Given the description of an element on the screen output the (x, y) to click on. 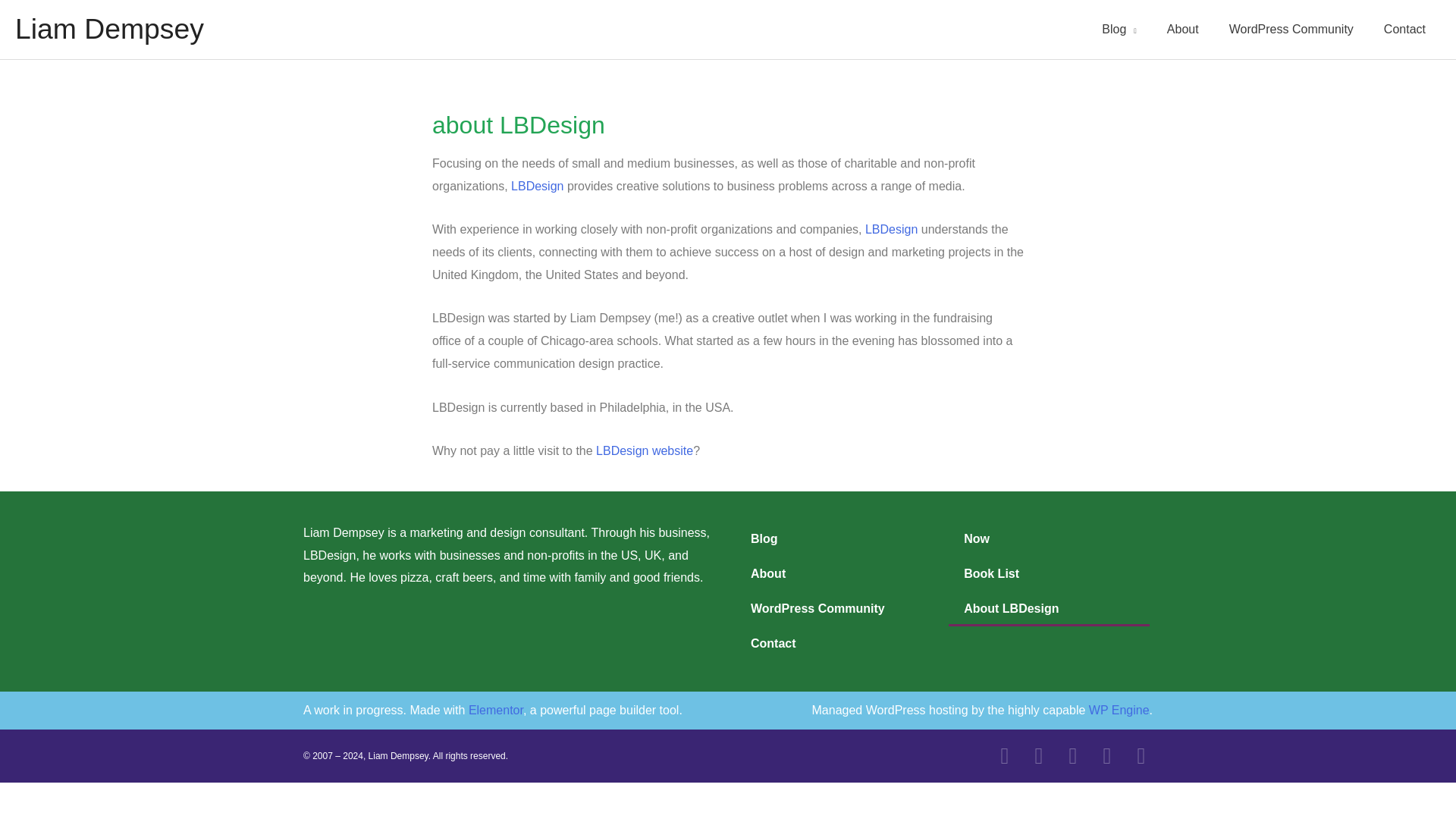
Book List (1049, 573)
WordPress Community (1291, 29)
Blog (1118, 29)
LBDesign (537, 185)
About LBDesign (1049, 608)
Blog (834, 538)
Liam Dempsey (108, 29)
About (834, 573)
About (1182, 29)
Rss (1141, 755)
